Given the description of an element on the screen output the (x, y) to click on. 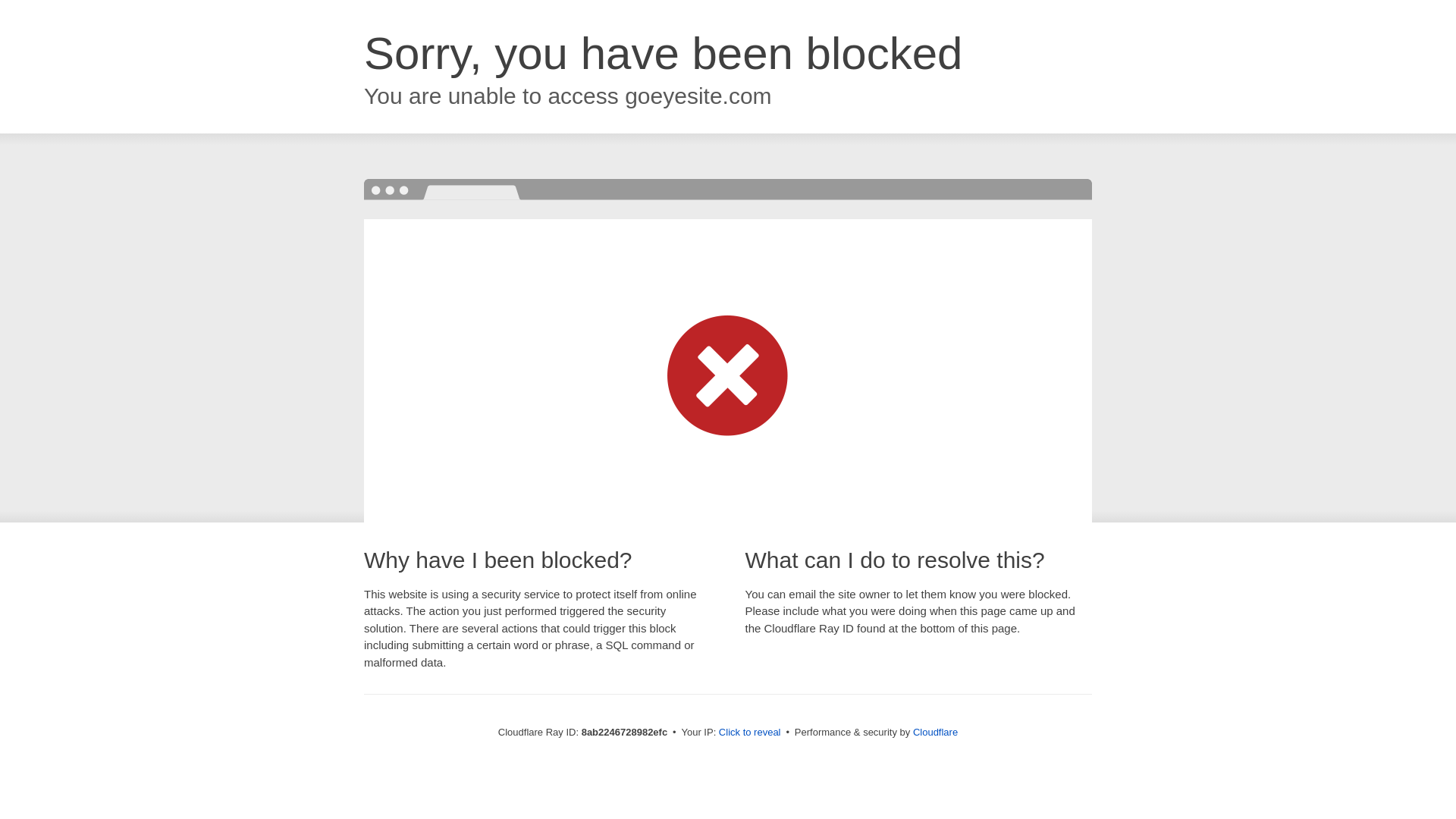
Click to reveal (749, 732)
Cloudflare (935, 731)
